Given the description of an element on the screen output the (x, y) to click on. 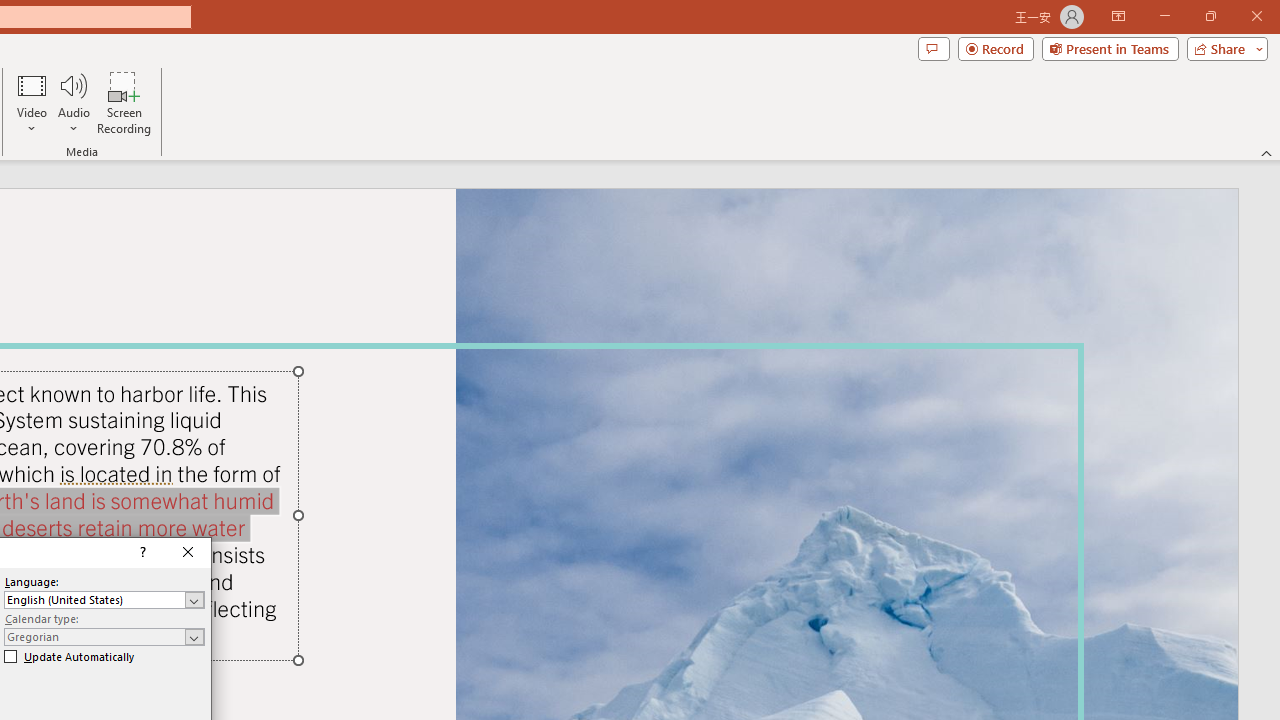
Record (995, 48)
Screen Recording... (123, 102)
Minimize (1164, 16)
